Given the description of an element on the screen output the (x, y) to click on. 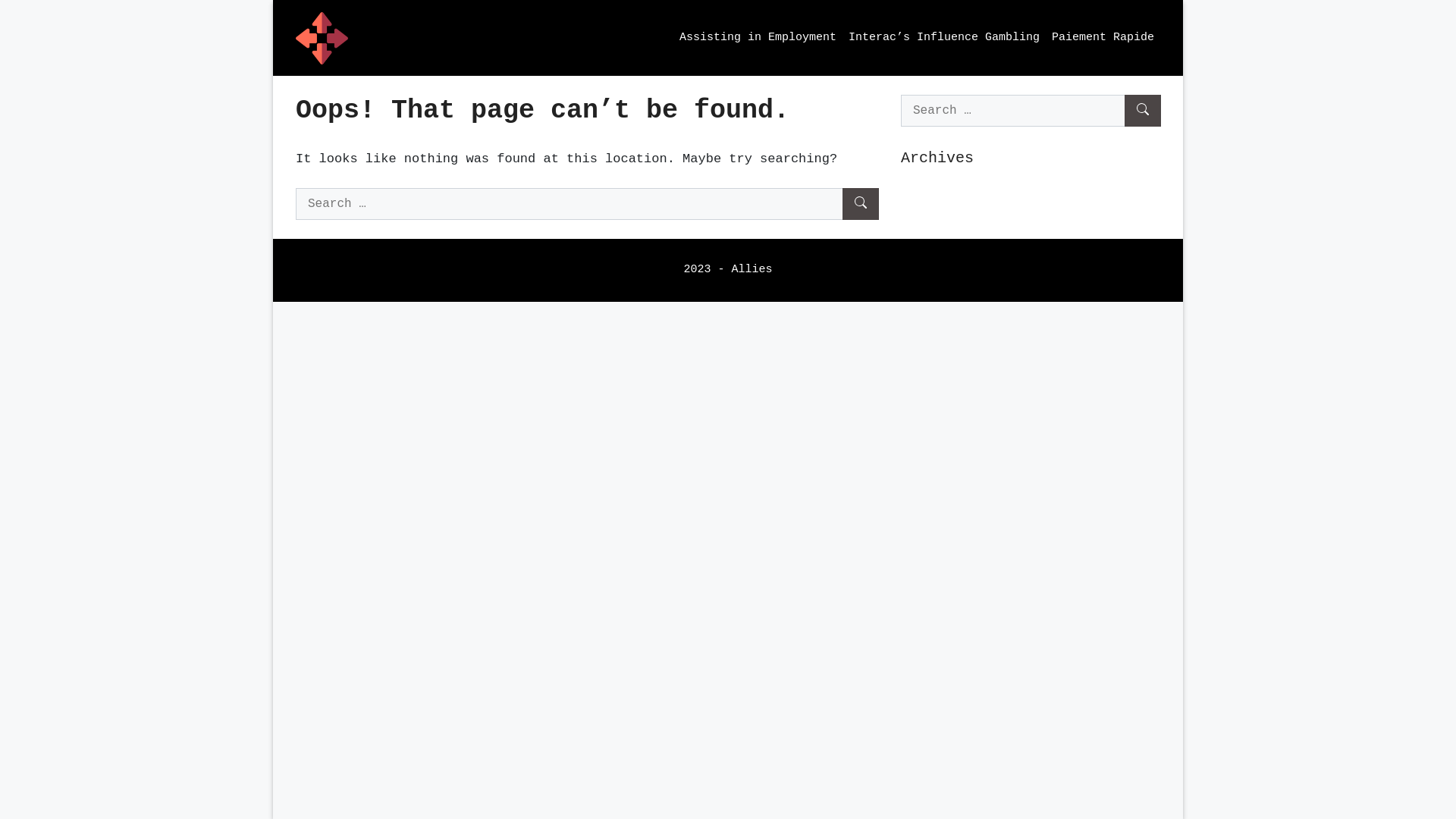
Allies Element type: hover (321, 37)
Paiement Rapide Element type: text (1102, 37)
Allies Element type: hover (321, 38)
Search for: Element type: hover (1030, 110)
Assisting in Employment Element type: text (757, 37)
Search for: Element type: hover (586, 203)
